Given the description of an element on the screen output the (x, y) to click on. 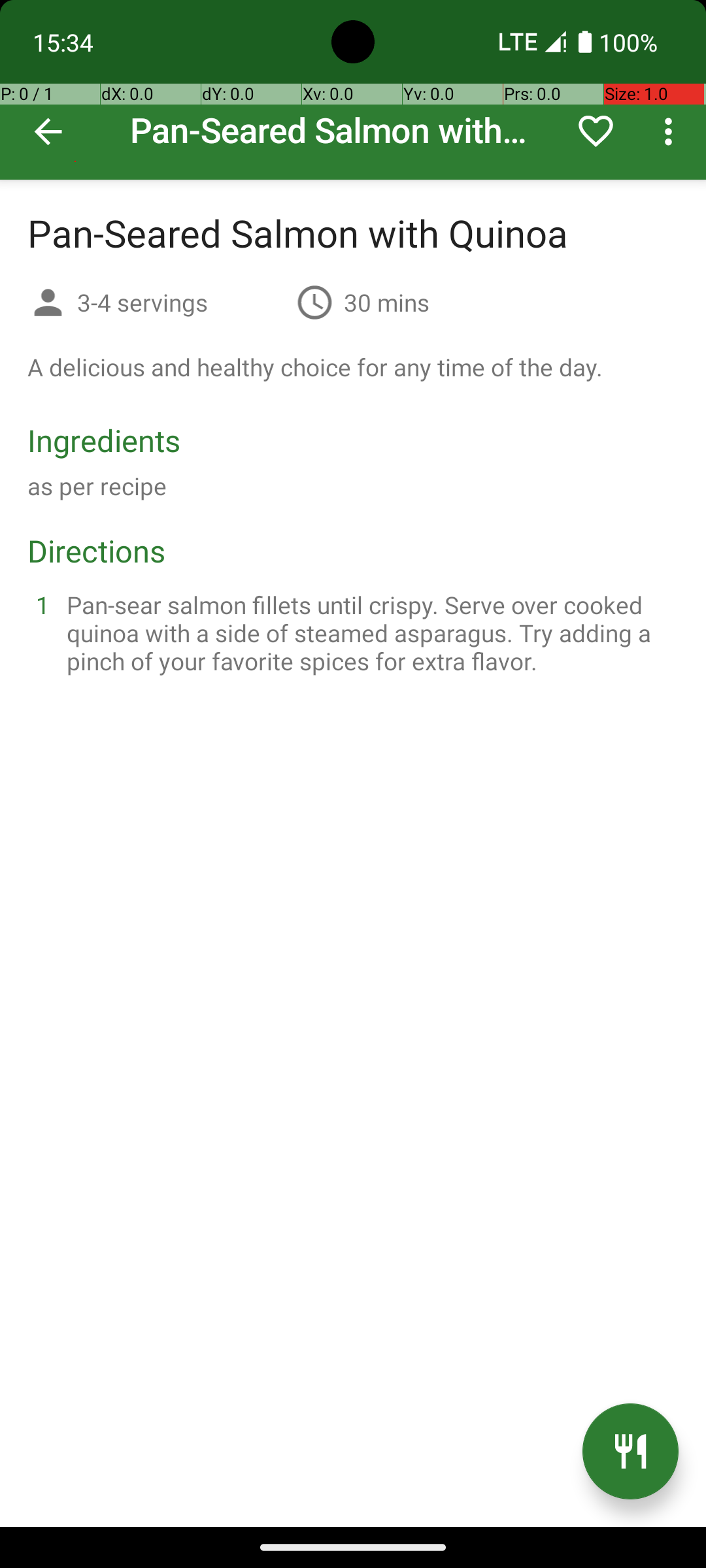
Pan-sear salmon fillets until crispy. Serve over cooked quinoa with a side of steamed asparagus. Try adding a pinch of your favorite spices for extra flavor. Element type: android.widget.TextView (368, 632)
